Given the description of an element on the screen output the (x, y) to click on. 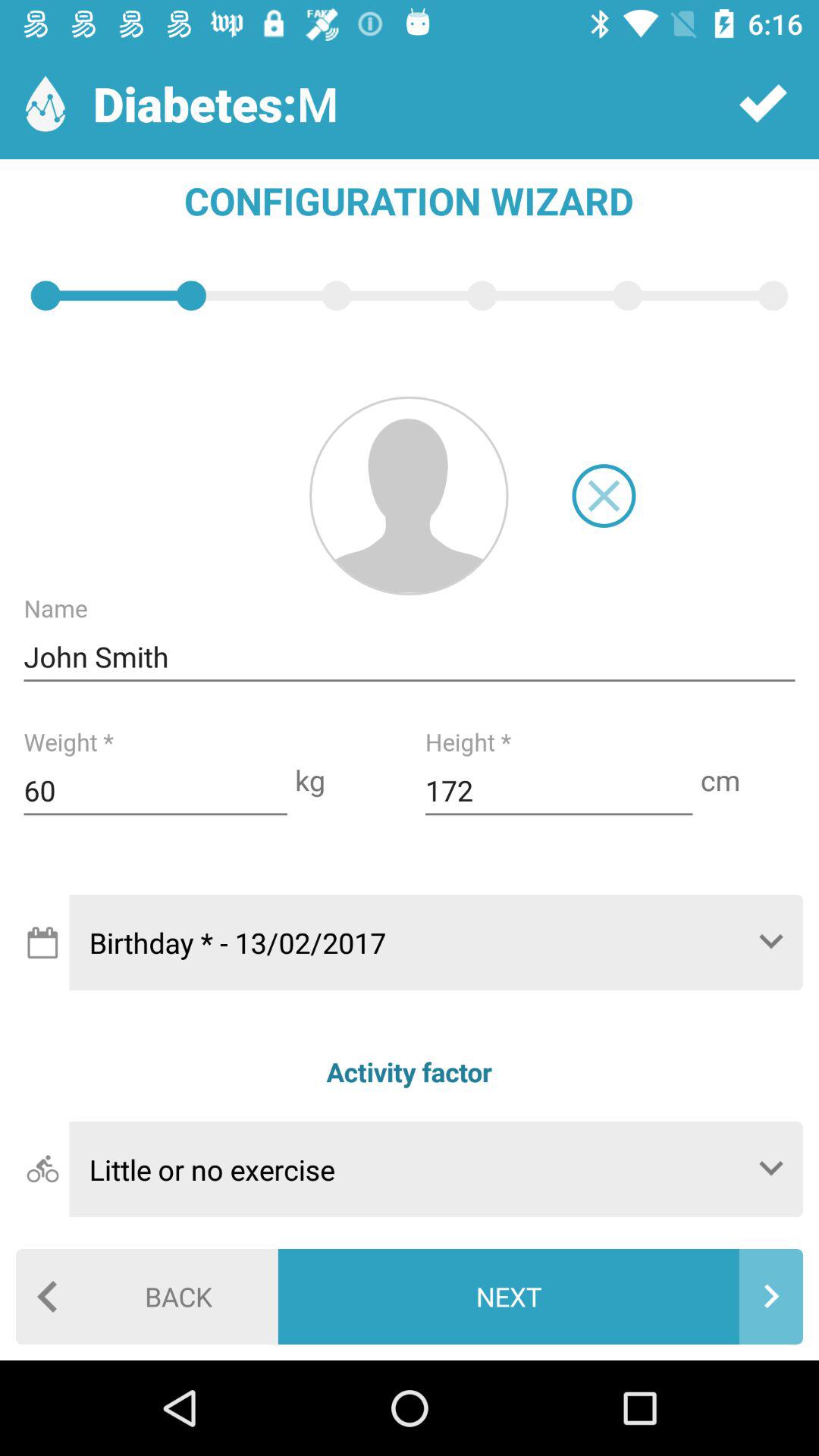
close button (603, 495)
